Given the description of an element on the screen output the (x, y) to click on. 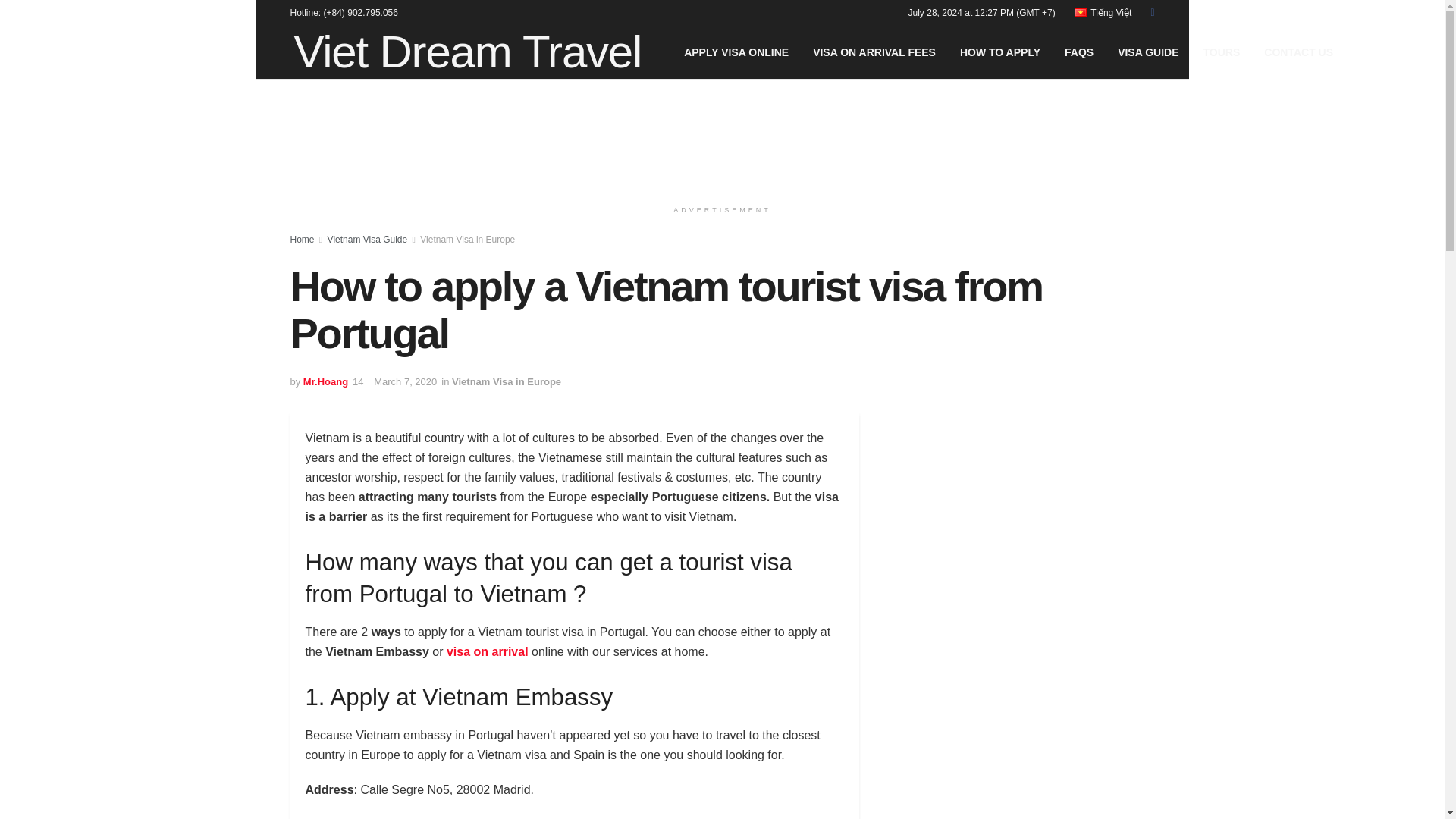
FAQS (1078, 52)
VISA ON ARRIVAL FEES (873, 52)
Viet Dream Travel (467, 51)
Vietnam Visa Guide (367, 239)
TOURS (1221, 52)
visa on arrival (487, 651)
HOW TO APPLY (999, 52)
Mr.Hoang (324, 381)
VISA GUIDE (1148, 52)
Vietnam Visa in Europe (467, 239)
Home (301, 239)
Vietnam Visa in Europe (505, 381)
APPLY VISA ONLINE (735, 52)
March 7, 2020 (405, 381)
CONTACT US (1298, 52)
